Given the description of an element on the screen output the (x, y) to click on. 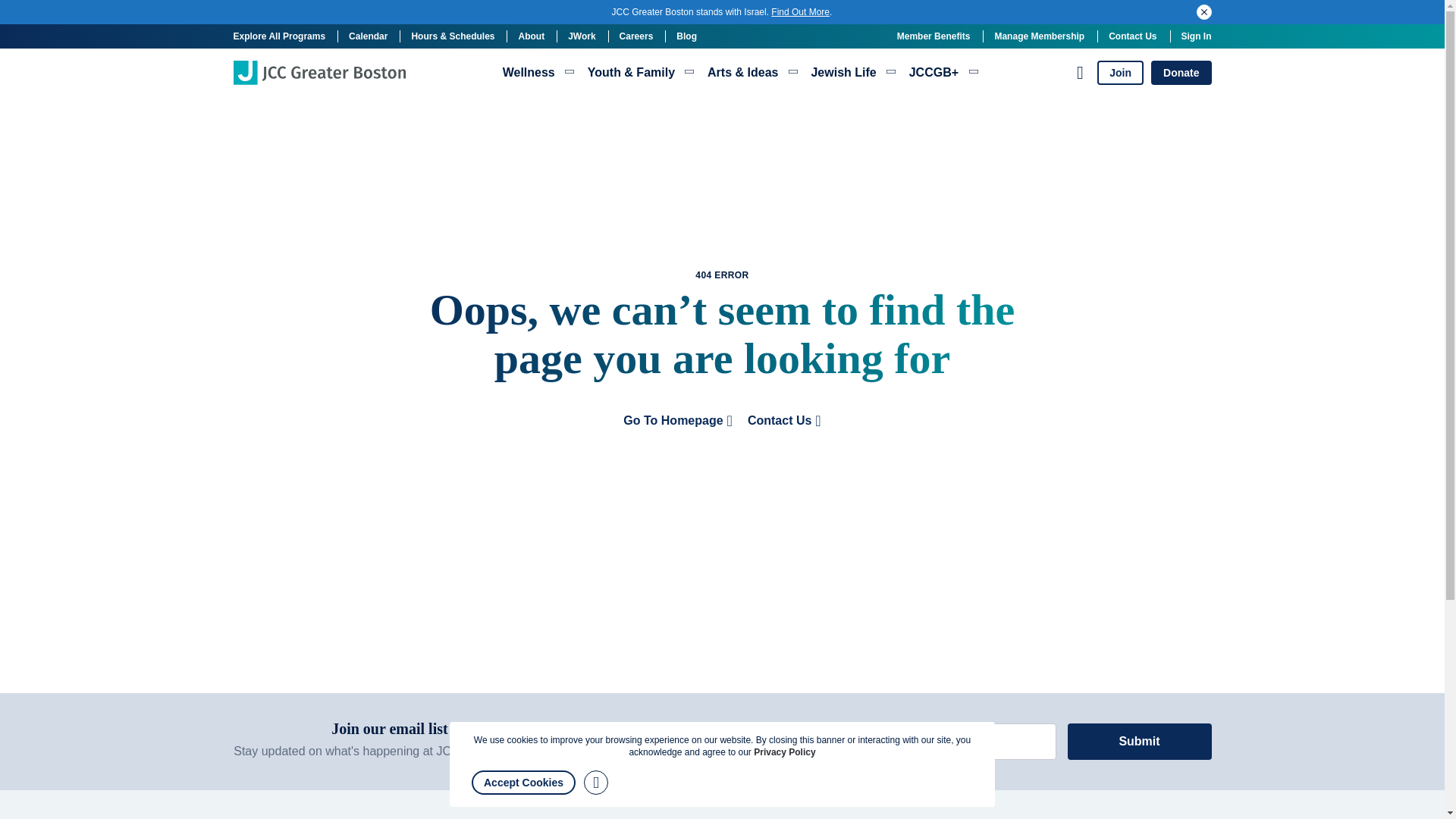
Explore All Programs (279, 36)
Blog (687, 36)
Member Benefits (933, 36)
Calendar (368, 36)
Wellness (537, 72)
About (531, 36)
Contact Us (1132, 36)
Find Out More (800, 11)
Sign In (1195, 36)
JWork (581, 36)
Careers (636, 36)
Manage Membership (1039, 36)
Close alert. (1203, 11)
